Given the description of an element on the screen output the (x, y) to click on. 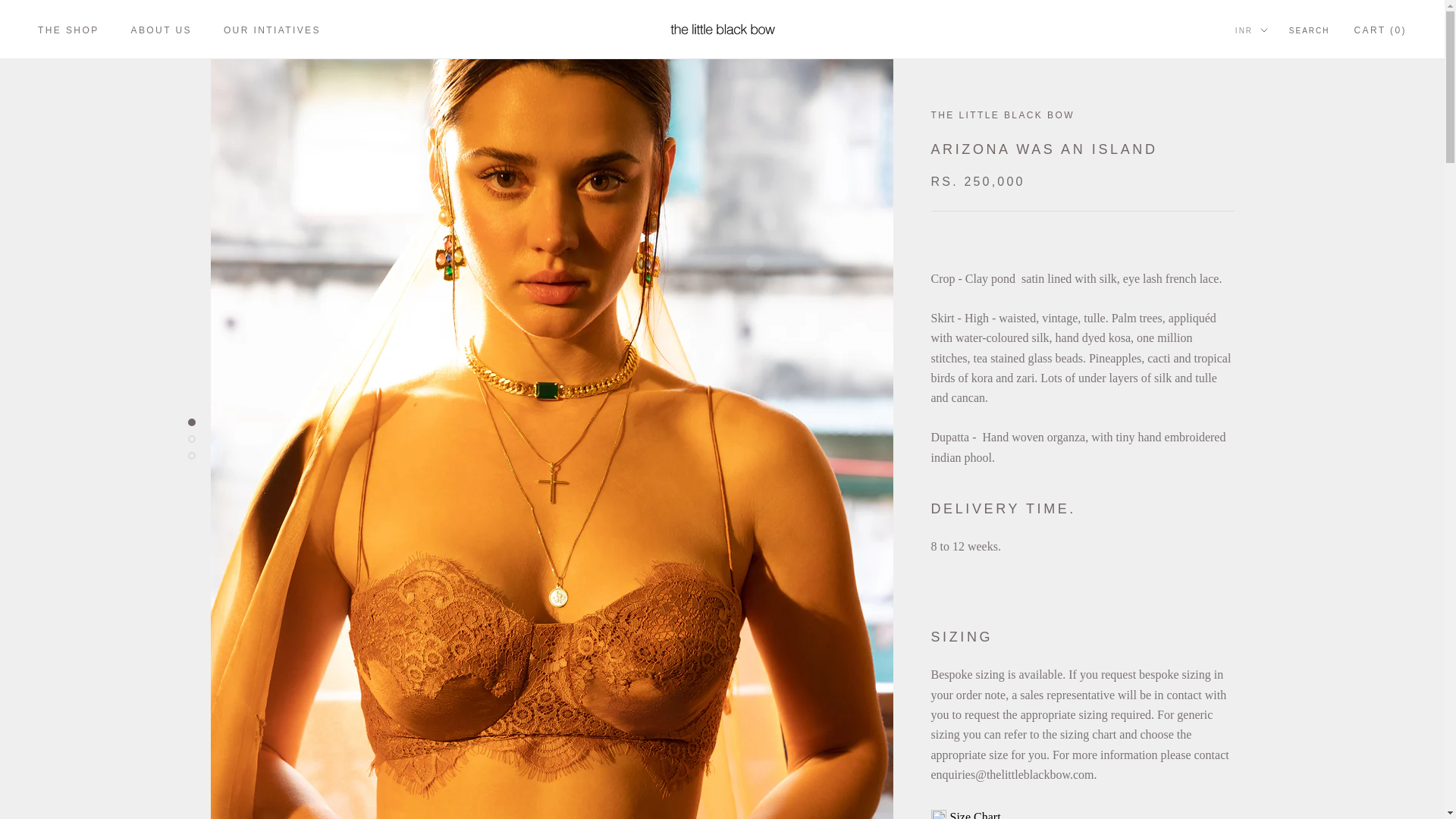
Currency selector (1251, 30)
